Given the description of an element on the screen output the (x, y) to click on. 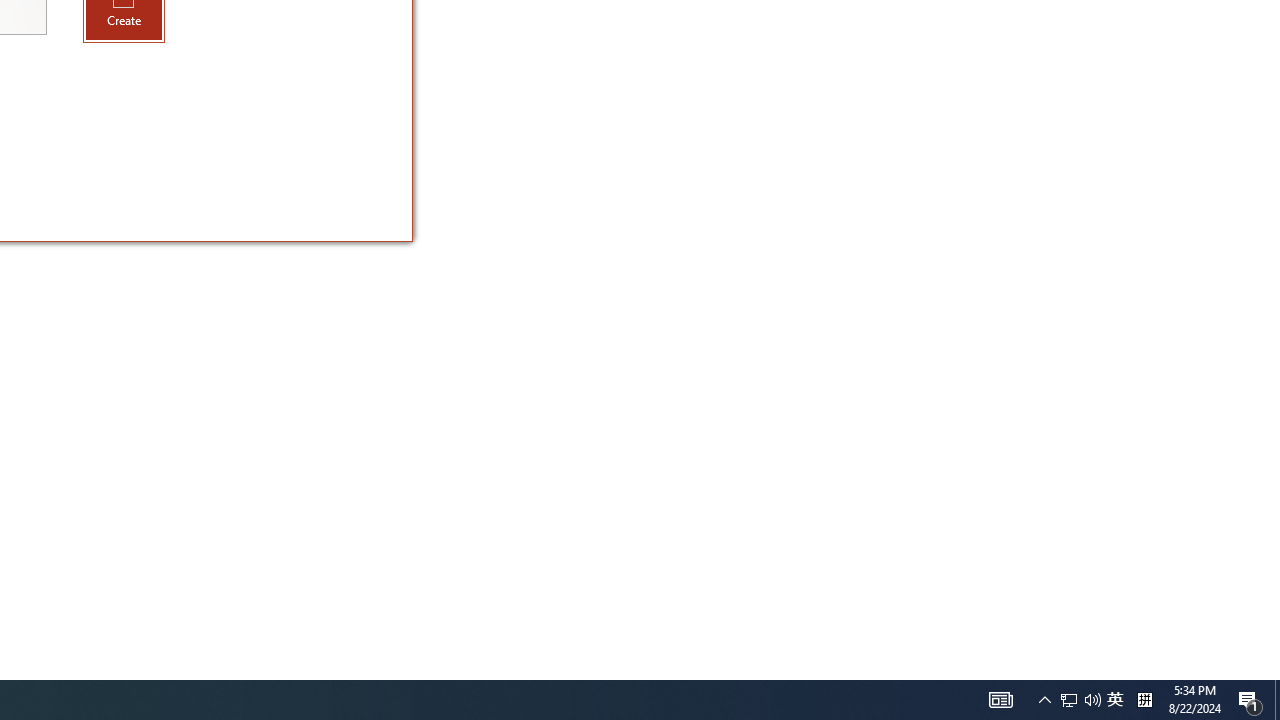
Action Center, 1 new notification (1250, 699)
